Given the description of an element on the screen output the (x, y) to click on. 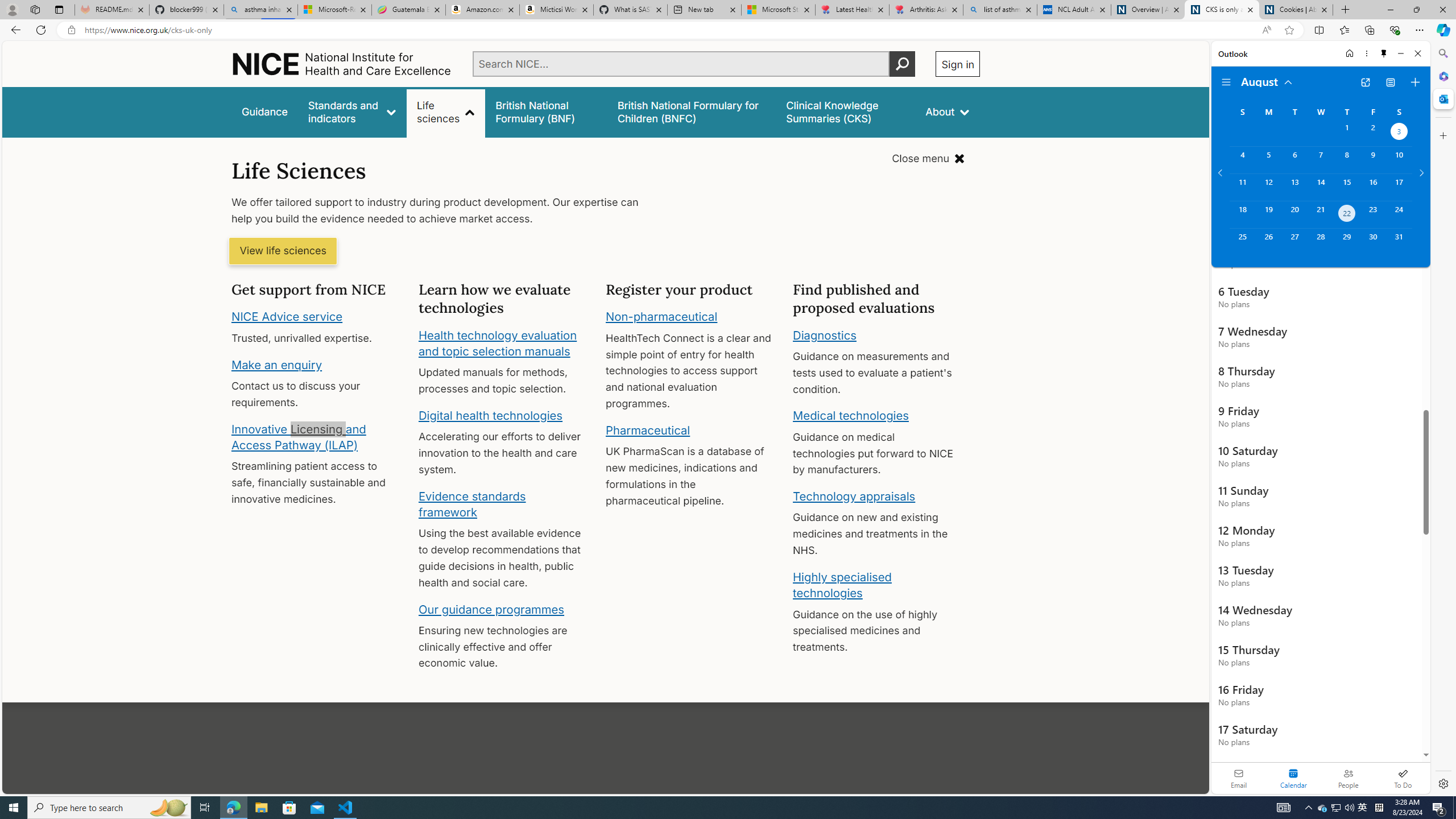
Friday, August 23, 2024.  (1372, 214)
Tuesday, August 6, 2024.  (1294, 159)
Create event (1414, 82)
Health technology evaluation and topic selection manuals (496, 342)
Saturday, August 31, 2024.  (1399, 241)
CKS is only available in the UK | NICE (1221, 9)
App bar (728, 29)
Saturday, August 17, 2024.  (1399, 186)
Side bar (1443, 418)
Address and search bar (669, 29)
